Given the description of an element on the screen output the (x, y) to click on. 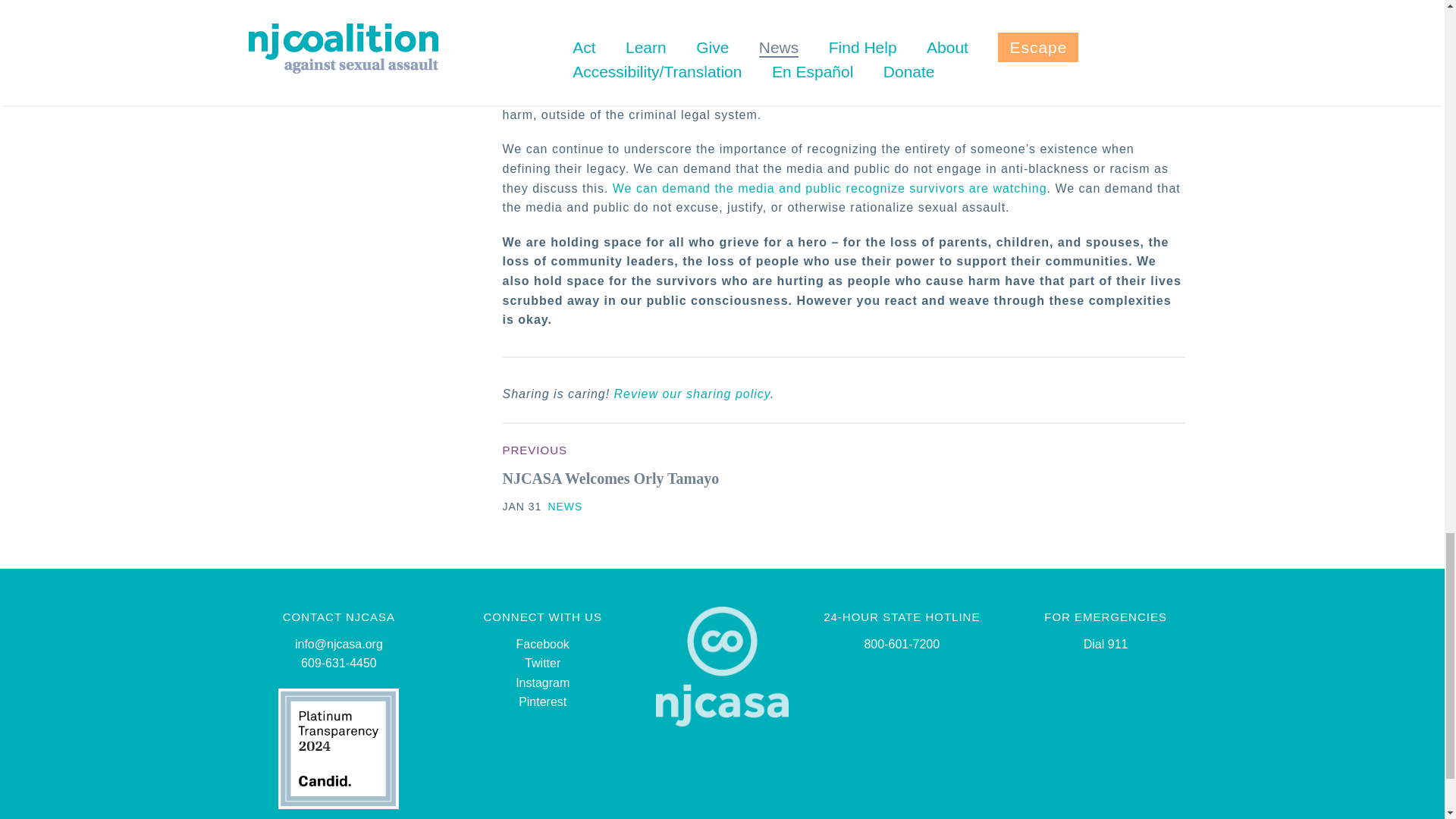
NEWS (564, 506)
Review our sharing policy (692, 393)
NJCASA Welcomes Orly Tamayo (610, 478)
we are not at all well-equipped to have a real conversation (829, 46)
